Given the description of an element on the screen output the (x, y) to click on. 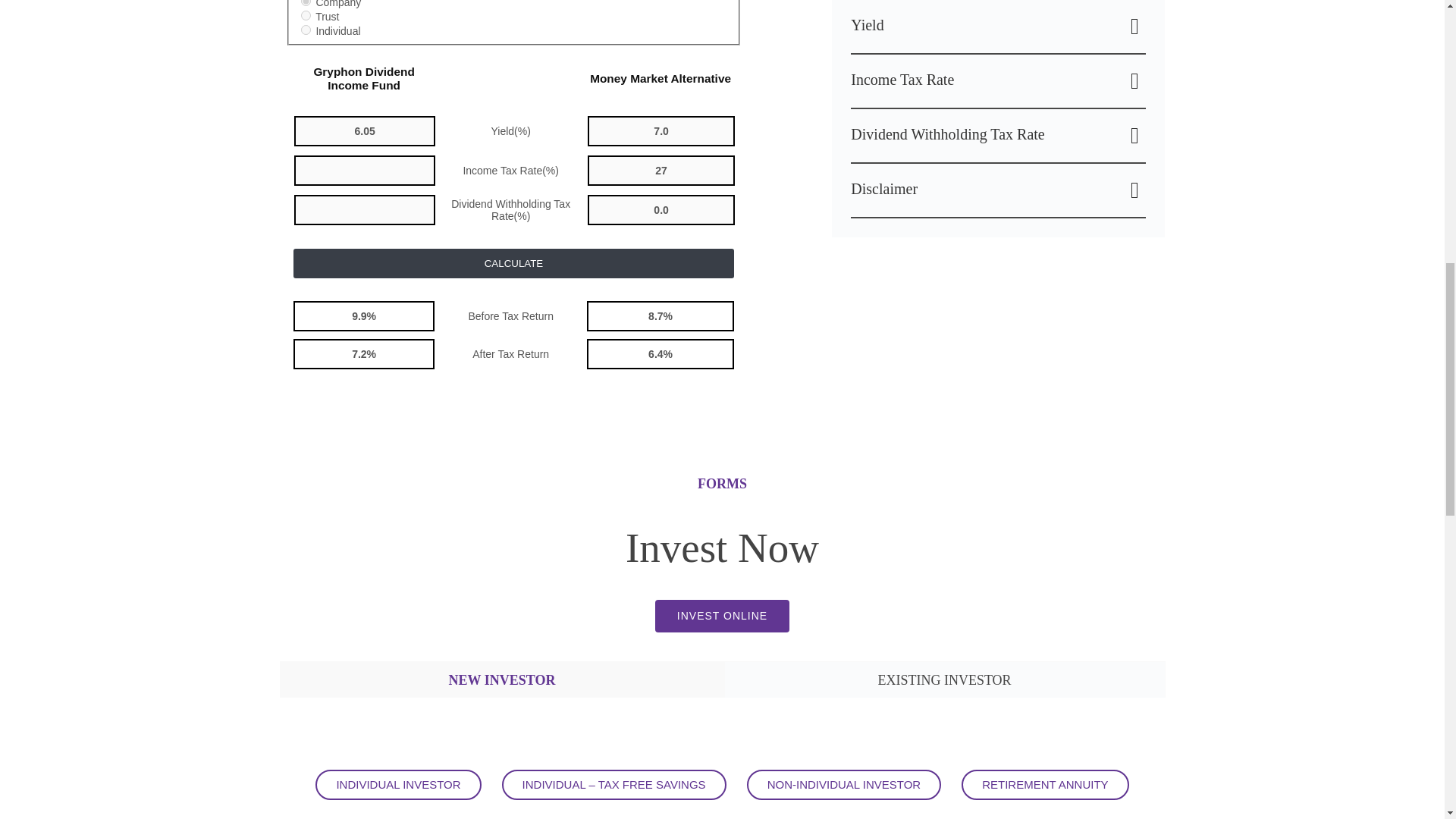
Disclaimer (997, 190)
INVEST ONLINE (722, 615)
Income Tax Rate (997, 80)
NEW INVESTOR (502, 680)
Dividend Withholding Tax Rate (997, 135)
Yield (997, 26)
EXISTING INVESTOR (944, 679)
